Given the description of an element on the screen output the (x, y) to click on. 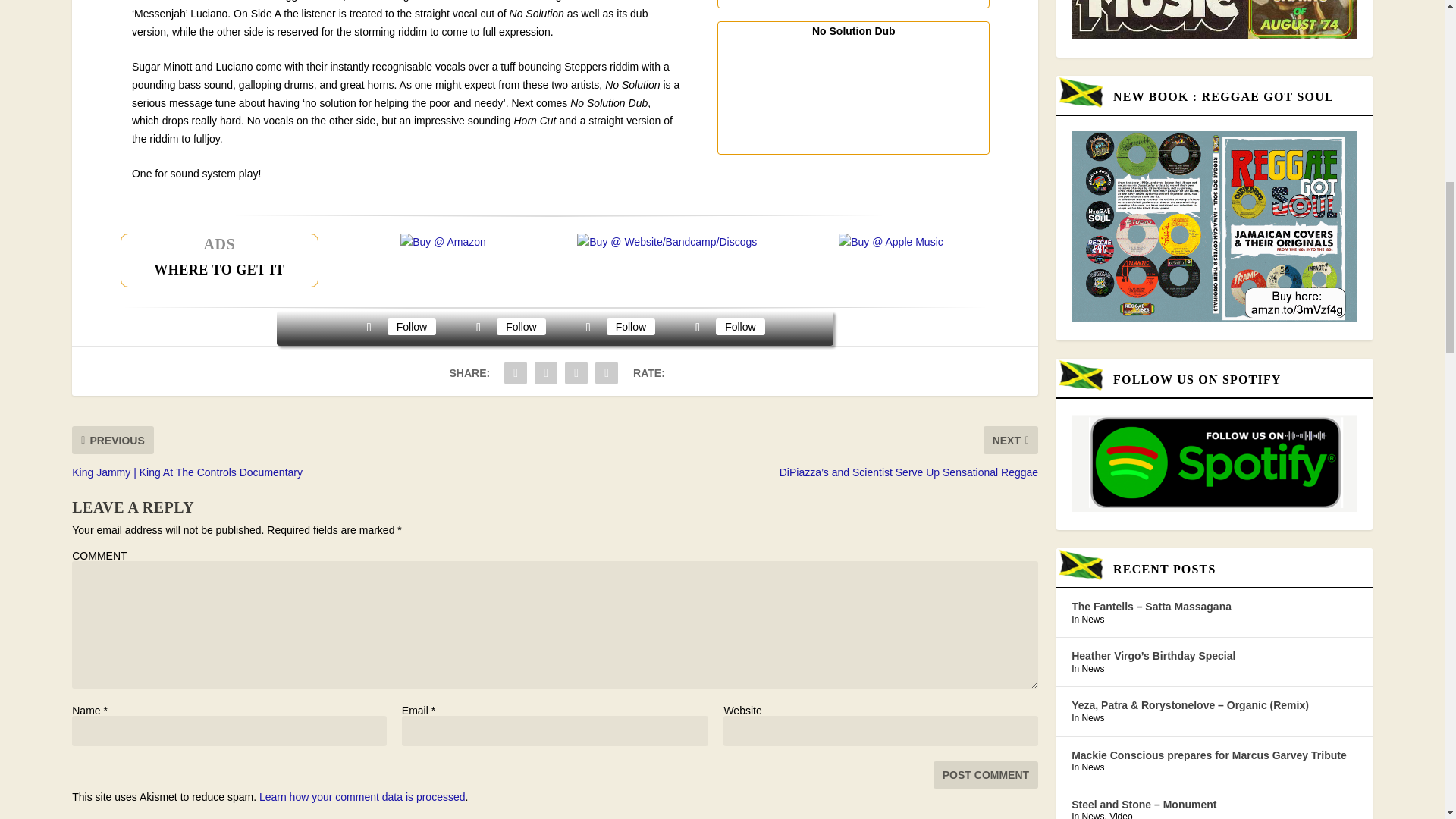
Follow on Youtube (697, 327)
YouTube video player (852, 94)
Twitter (520, 326)
Post Comment (985, 774)
Facebook (411, 326)
Follow on Instagram (587, 327)
Instagram (631, 326)
Follow on Facebook (368, 327)
Follow on Twitter (477, 327)
